Given the description of an element on the screen output the (x, y) to click on. 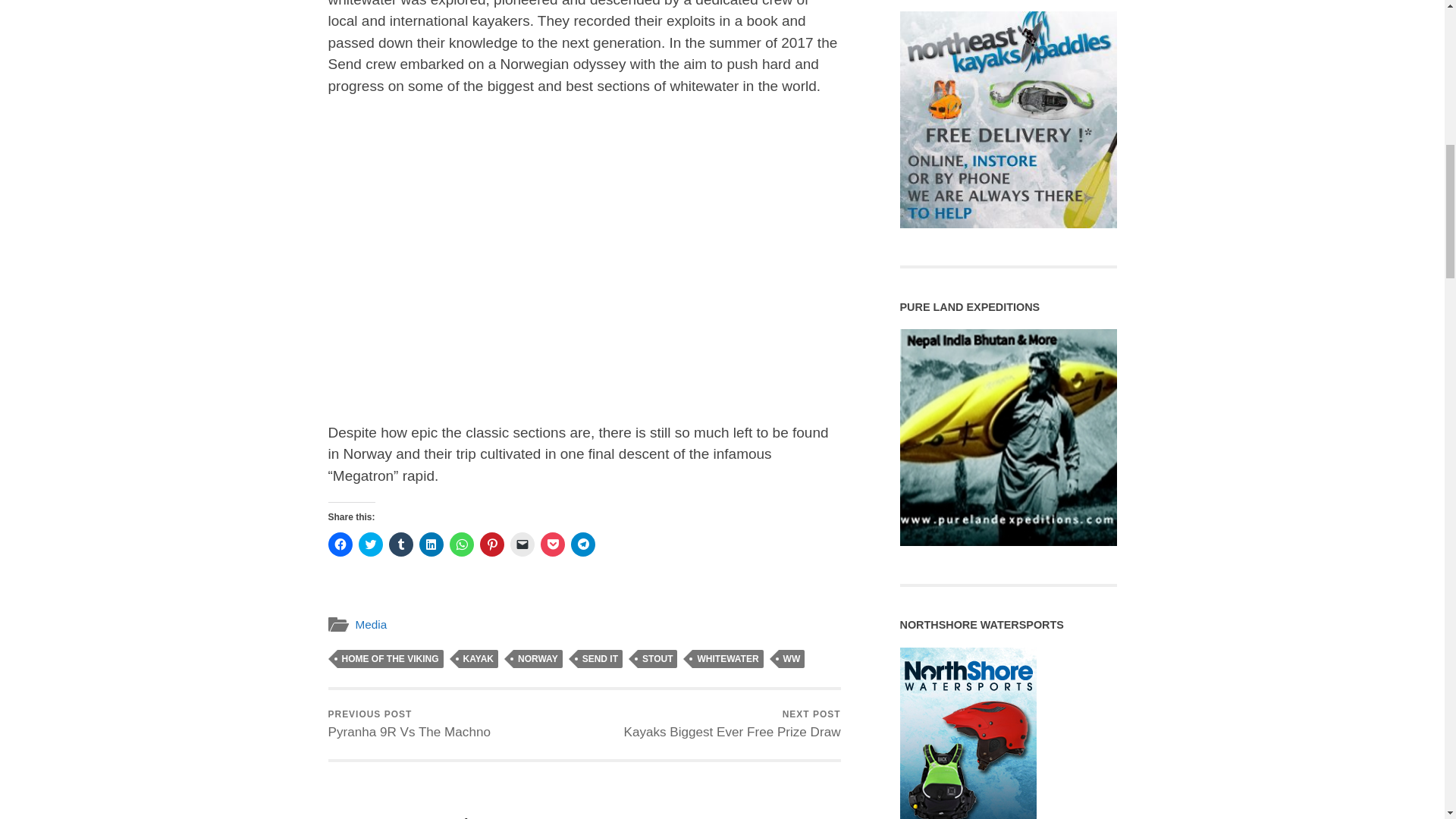
Click to share on Pinterest (491, 544)
Click to email a link to a friend (521, 544)
Click to share on Facebook (339, 544)
Click to share on Pocket (552, 544)
Click to share on Telegram (582, 544)
Click to share on LinkedIn (430, 544)
Click to share on WhatsApp (460, 544)
Click to share on Twitter (369, 544)
Click to share on Tumblr (400, 544)
